Given the description of an element on the screen output the (x, y) to click on. 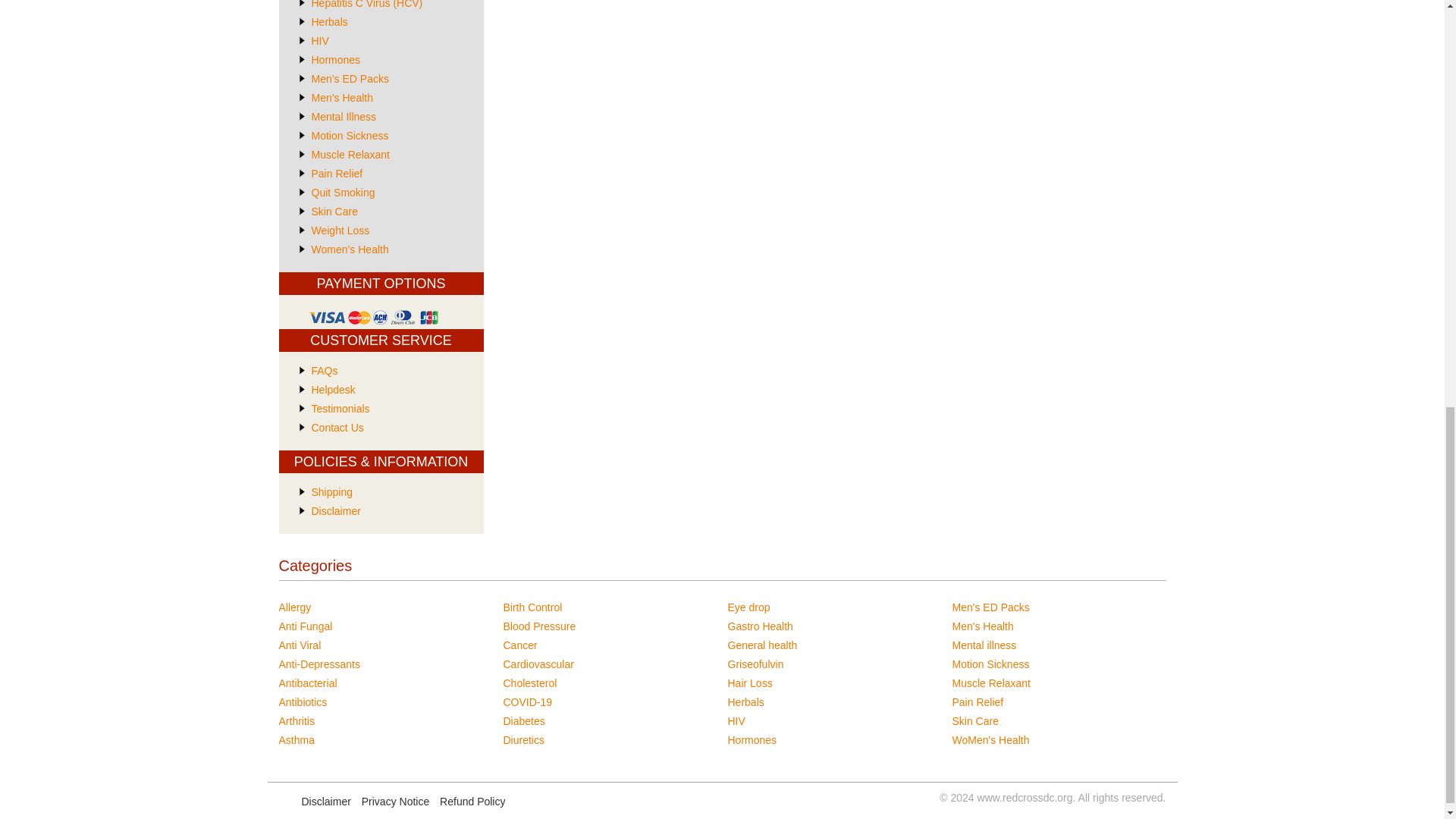
HIV (320, 40)
Herbals (329, 21)
Hormones (335, 60)
